Given the description of an element on the screen output the (x, y) to click on. 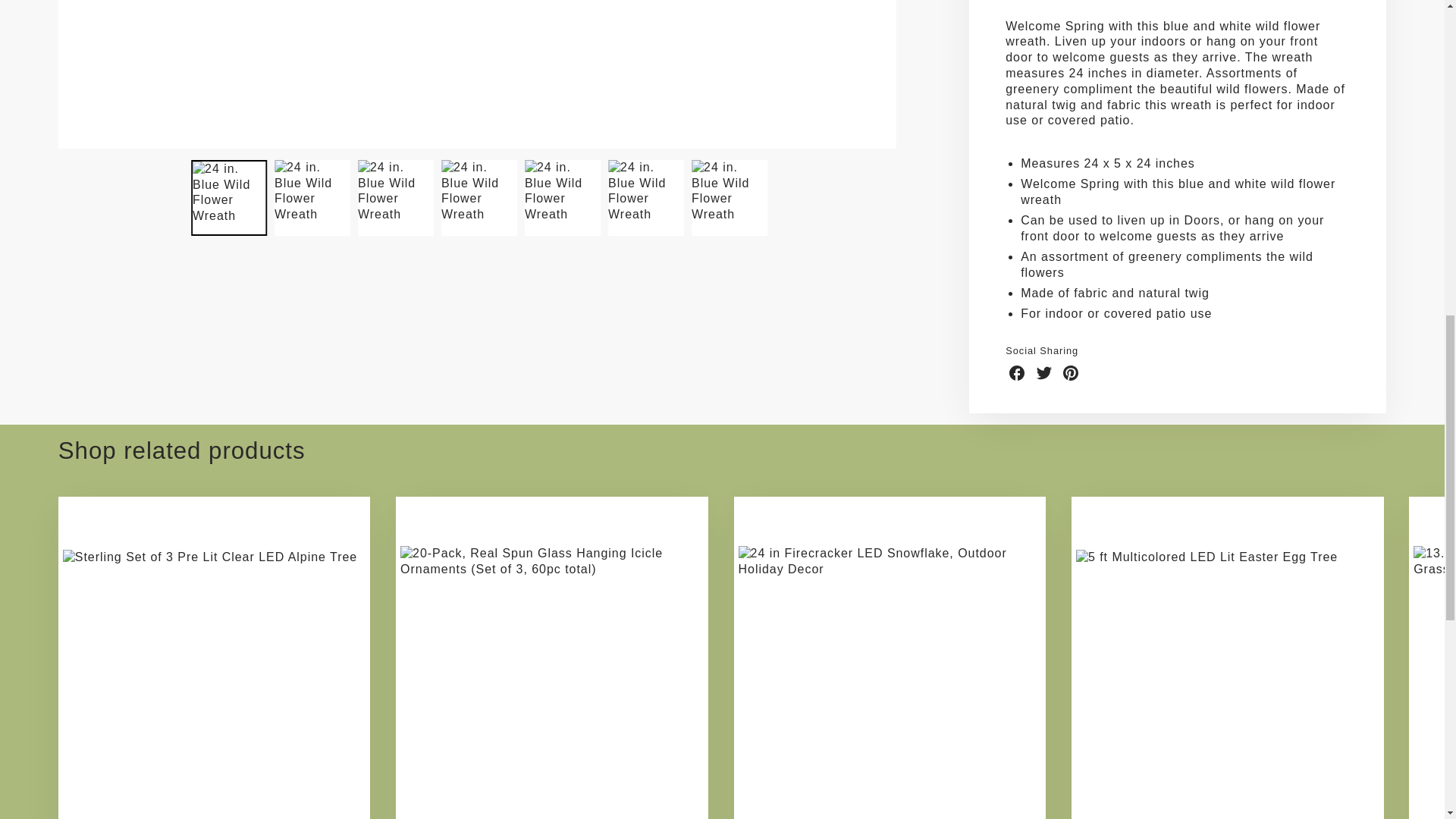
Pin on Pinterest (1070, 372)
Tweet on Twitter (1043, 372)
Share on Facebook (1016, 372)
